Given the description of an element on the screen output the (x, y) to click on. 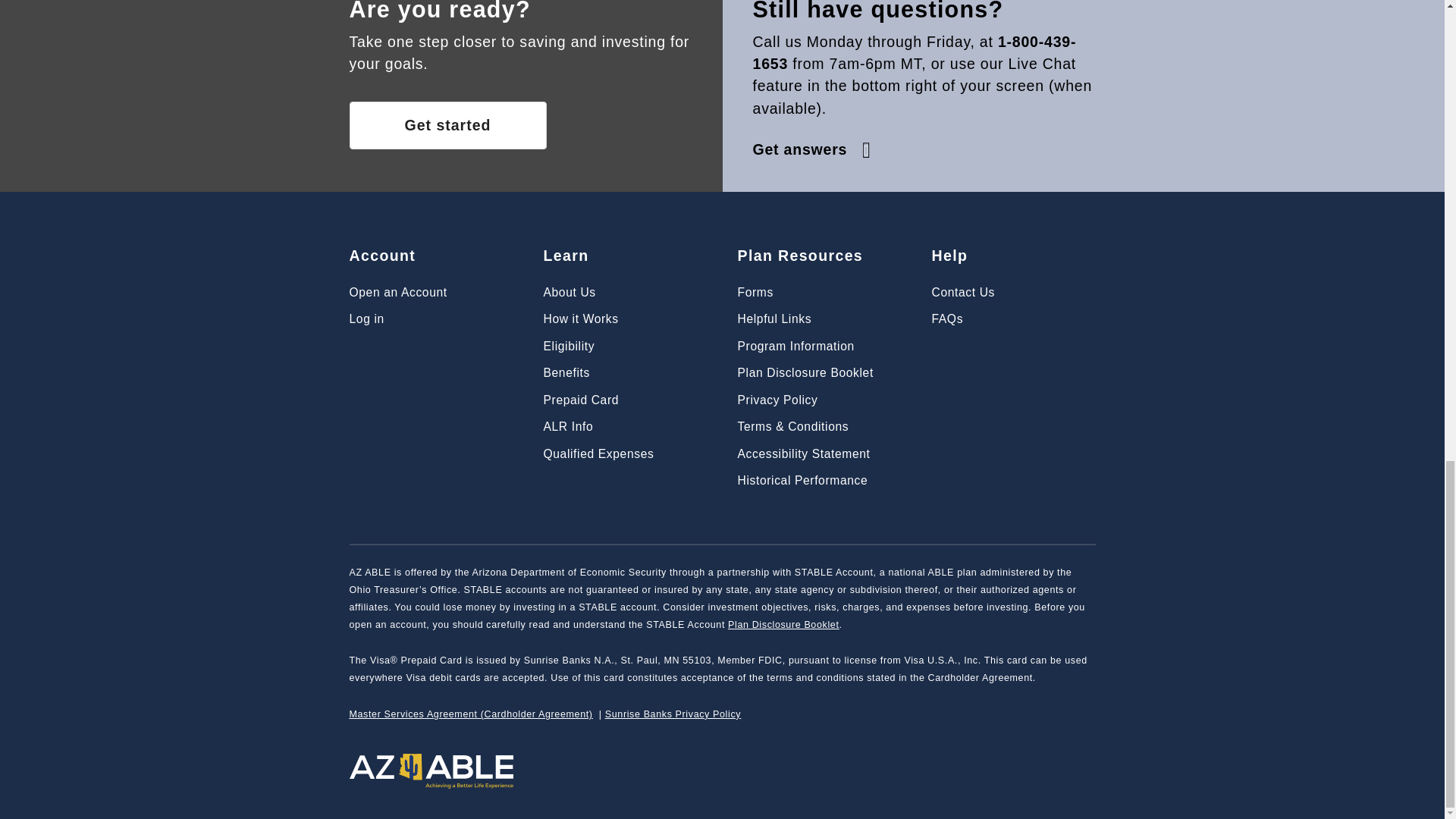
ALR Info (567, 426)
Forms (754, 291)
Privacy Policy (776, 399)
Historical Performance (801, 480)
Prepaid Card (580, 399)
Get started (447, 125)
Open an Account (397, 291)
Qualified Expenses (598, 453)
About Us (569, 291)
How it Works (580, 318)
